Given the description of an element on the screen output the (x, y) to click on. 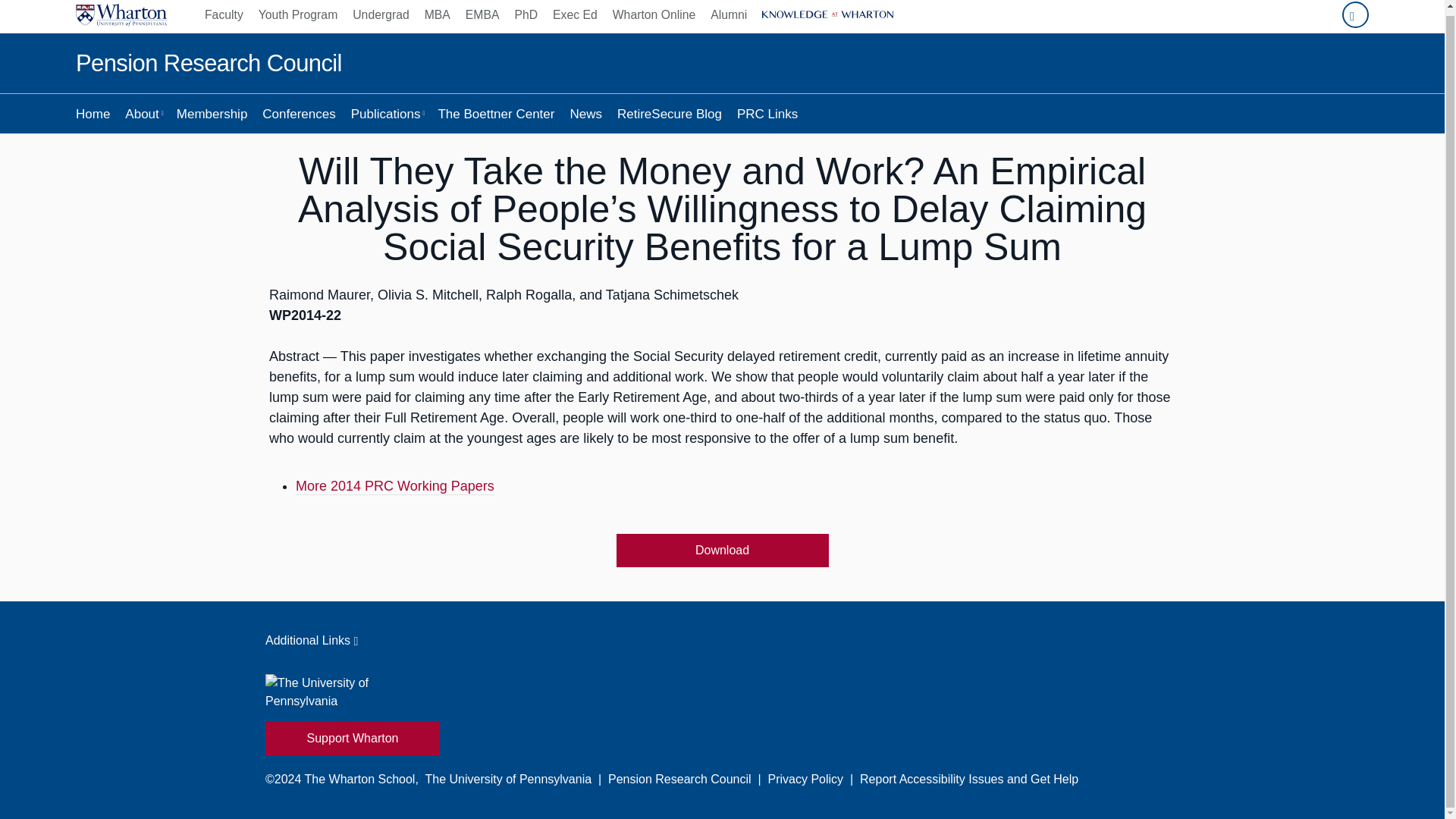
About (142, 113)
PRC Links (767, 113)
Alumni (728, 16)
Membership (212, 113)
Download (721, 550)
Pension Research Council (208, 63)
Additional Links (721, 640)
Conferences (298, 113)
Faculty (227, 16)
More 2014 PRC Working Papers (395, 486)
Wharton Home (121, 16)
Youth Program (297, 16)
RetireSecure Blog (669, 113)
Undergrad (380, 16)
Publications (386, 113)
